Given the description of an element on the screen output the (x, y) to click on. 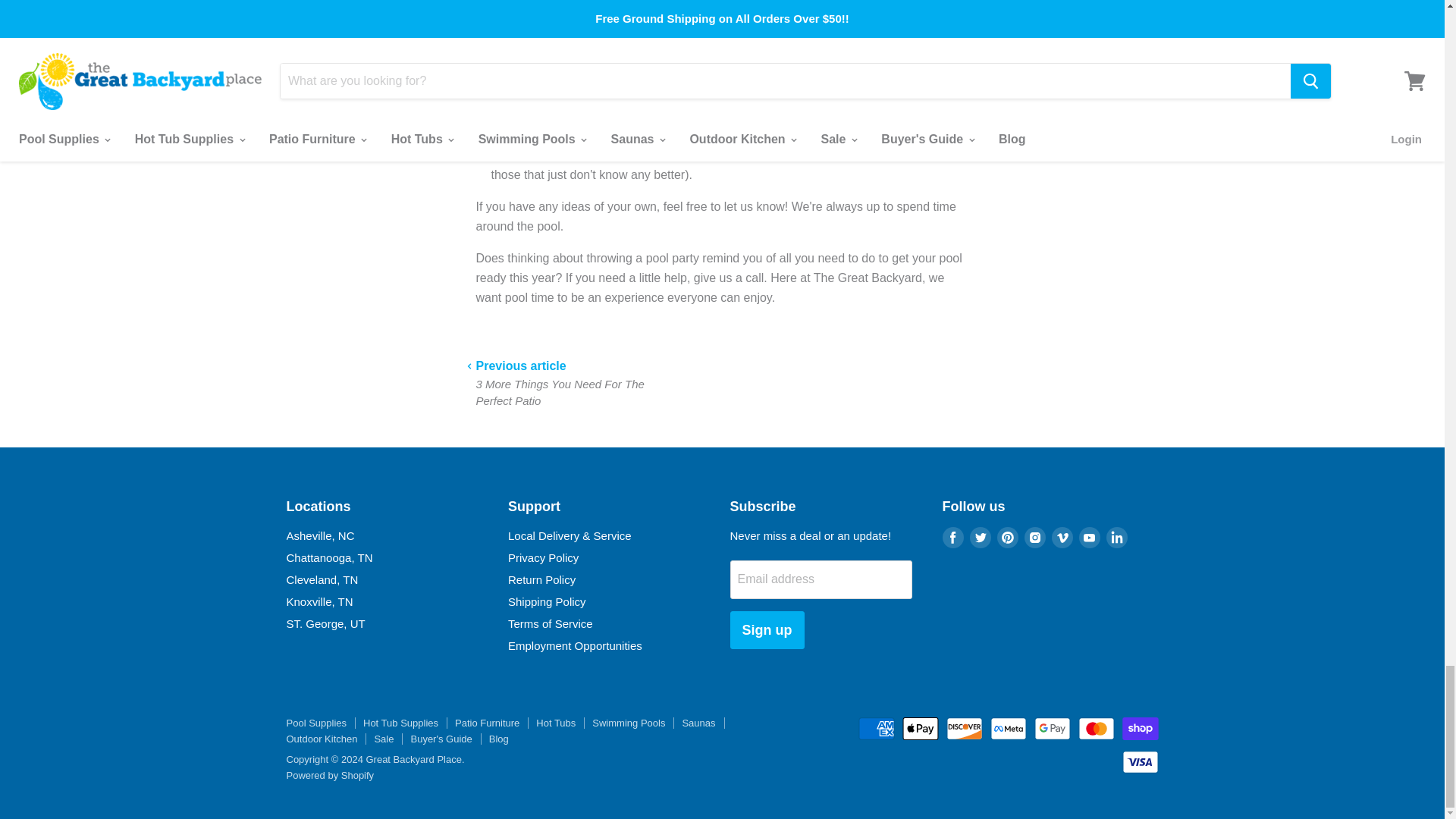
Youtube (1088, 537)
Facebook (952, 537)
Vimeo (1061, 537)
Pinterest (1006, 537)
LinkedIn (1115, 537)
Twitter (979, 537)
Instagram (1034, 537)
